Given the description of an element on the screen output the (x, y) to click on. 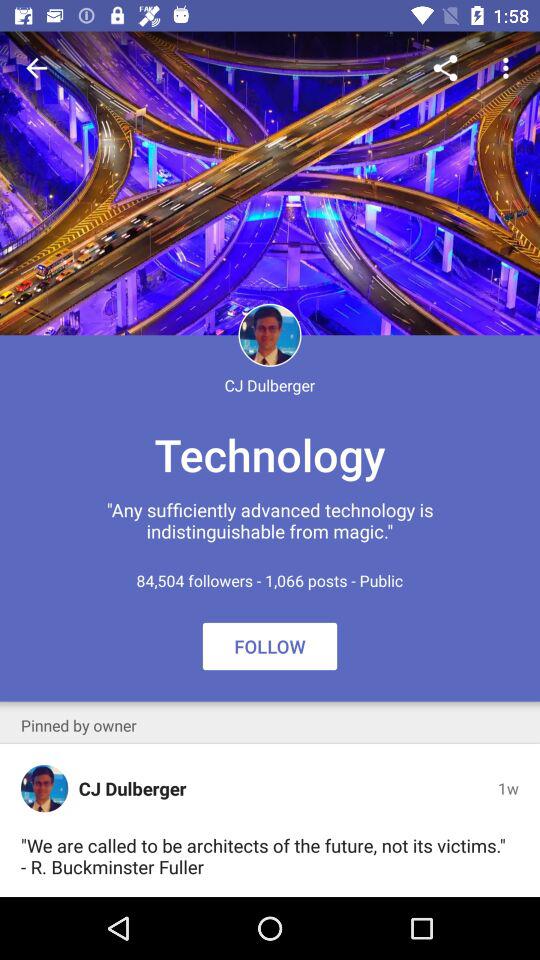
click on the follow (269, 646)
click on share icon (445, 68)
the three vertical dot icon at the top right corner of the page (508, 68)
